Given the description of an element on the screen output the (x, y) to click on. 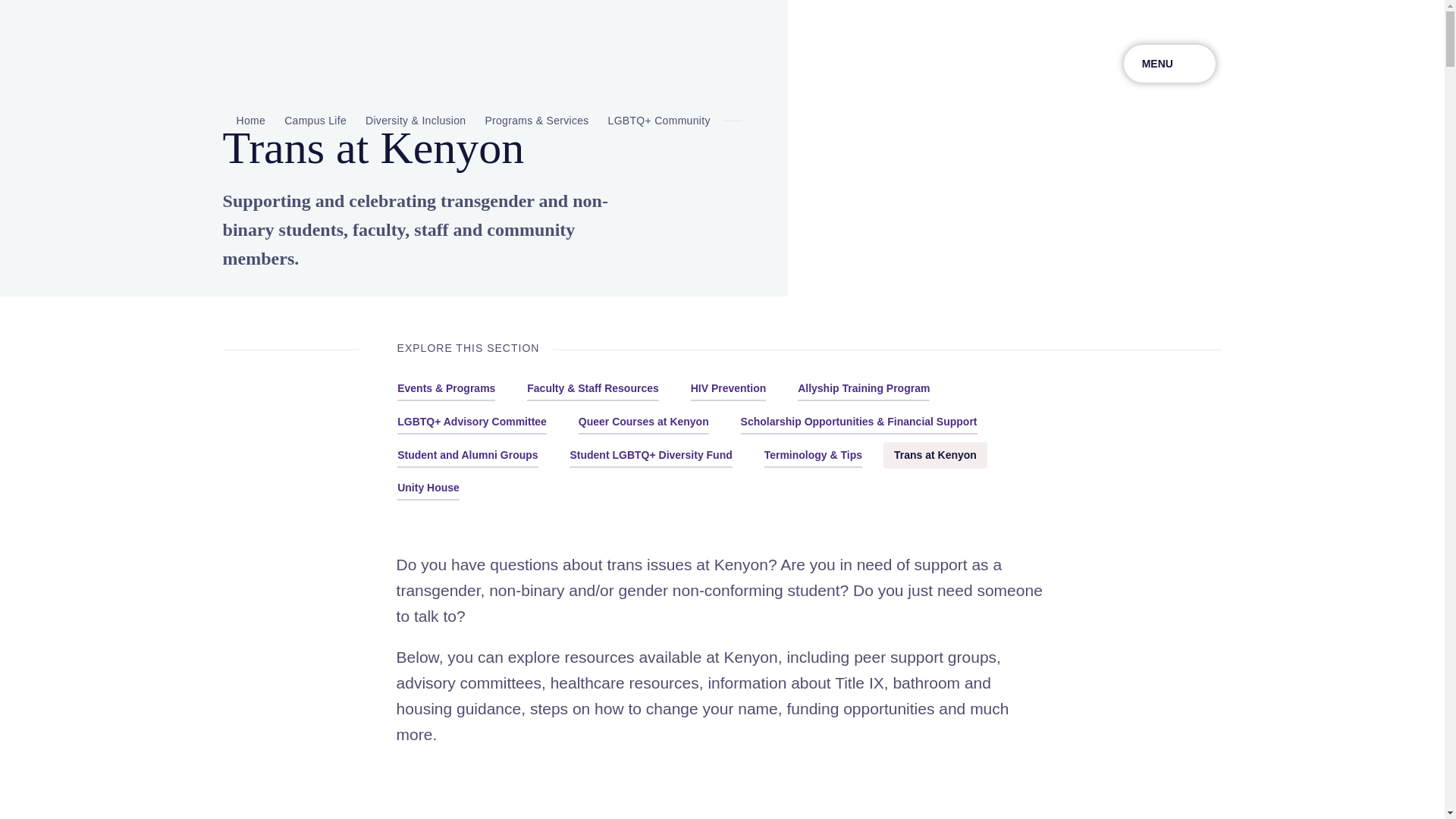
Allyship Training Program (863, 388)
Queer Courses at Kenyon (643, 421)
Home (244, 120)
Unity House (428, 488)
Student and Alumni Groups (467, 454)
Campus Life (314, 120)
MENU (1168, 63)
HIV Prevention (728, 388)
Trans at Kenyon (935, 454)
Kenyon College Home (298, 63)
